Given the description of an element on the screen output the (x, y) to click on. 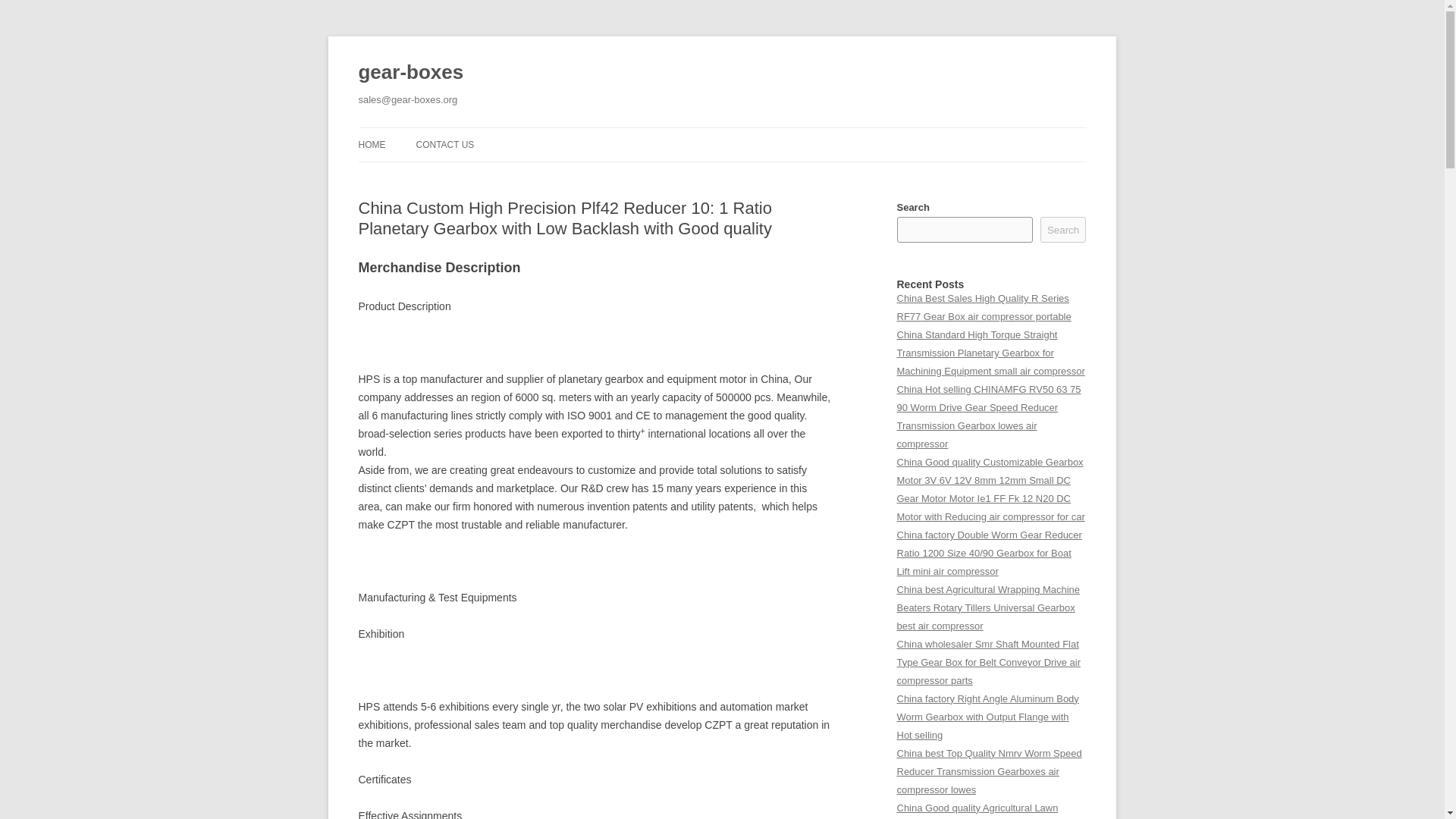
Search (1063, 229)
gear-boxes (410, 72)
